Given the description of an element on the screen output the (x, y) to click on. 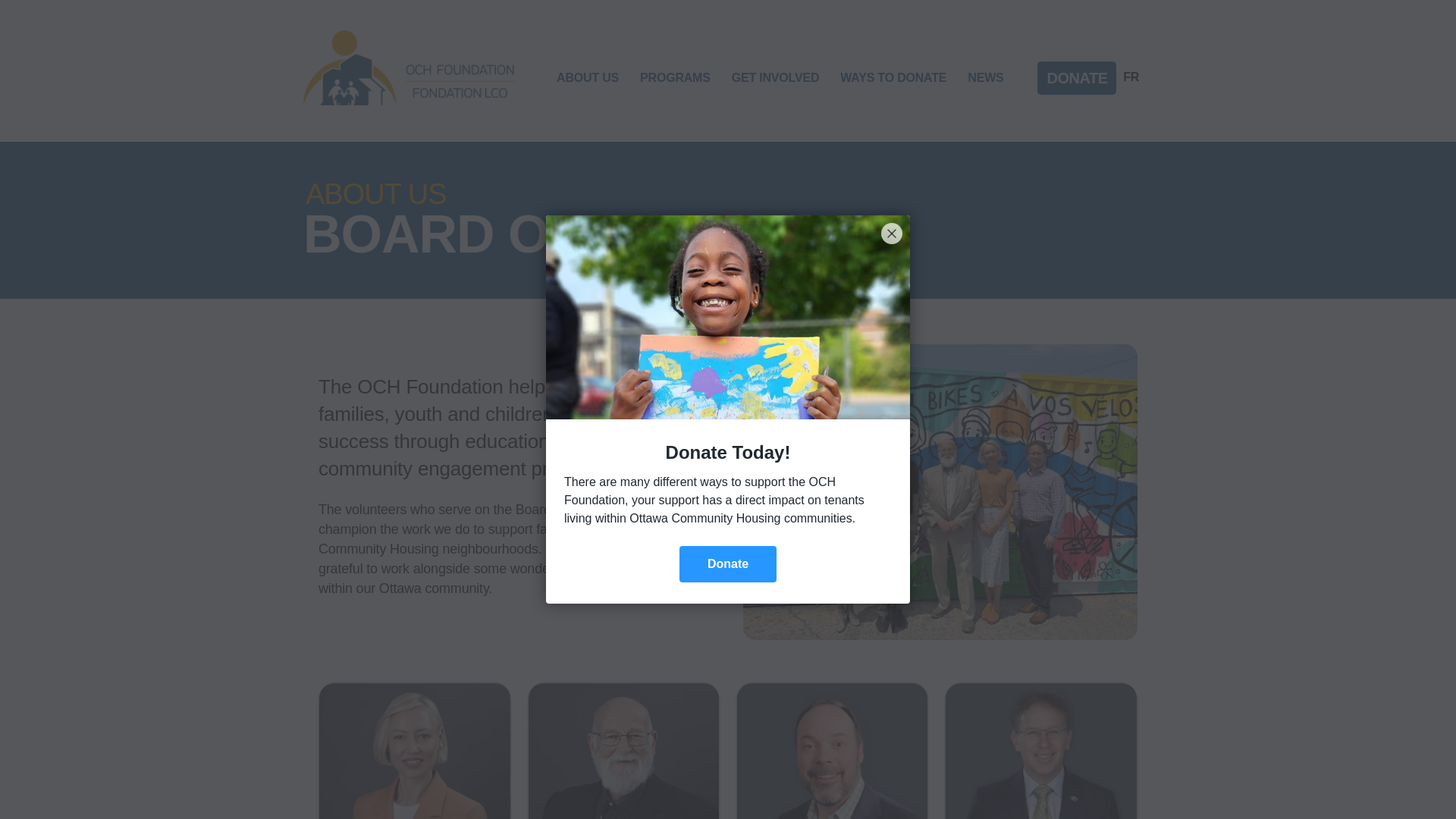
WAYS TO DONATE (893, 77)
NEWS (985, 77)
GET INVOLVED (775, 77)
PROGRAMS (675, 77)
ABOUT US (587, 77)
